Given the description of an element on the screen output the (x, y) to click on. 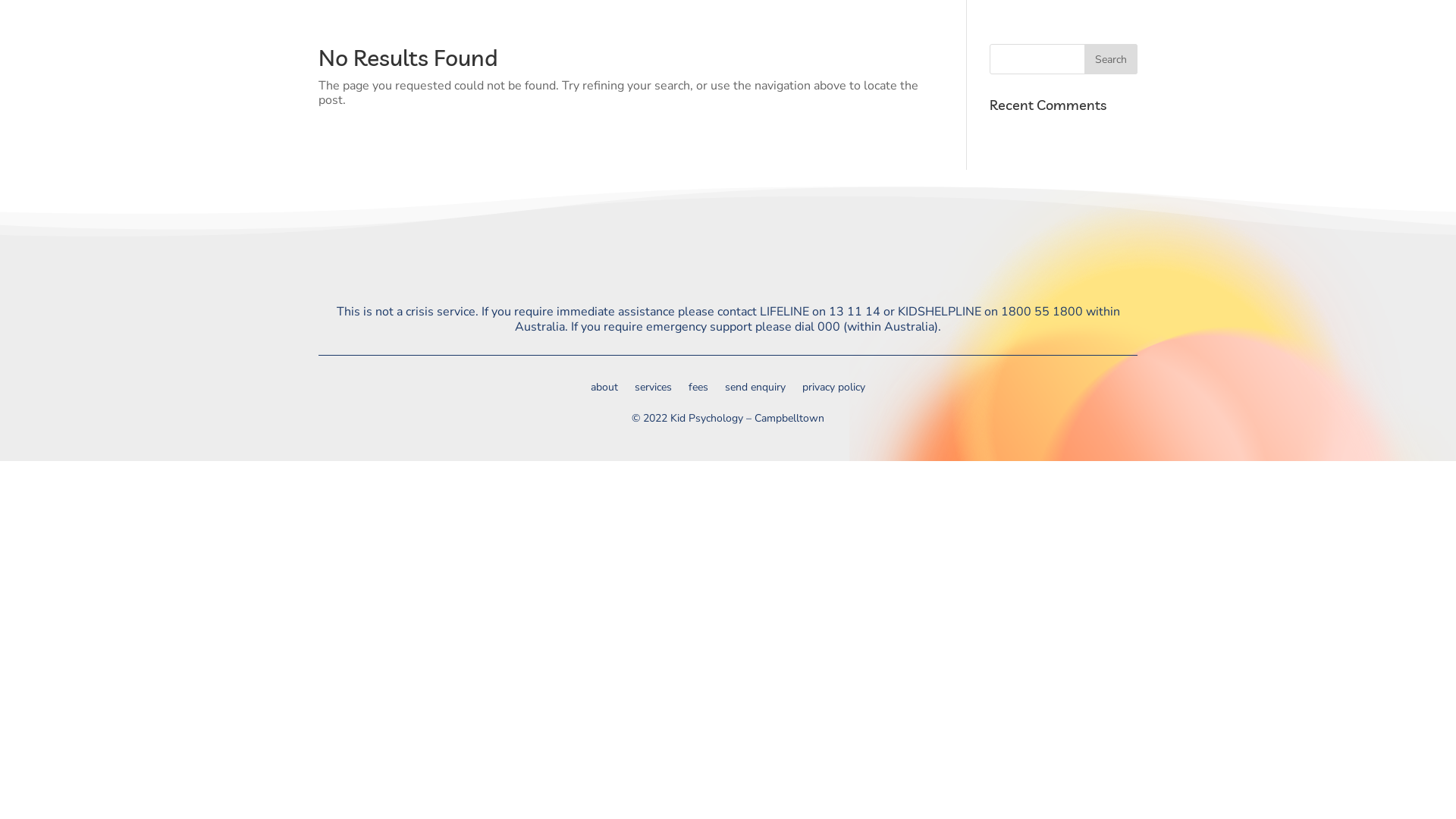
send enquiry Element type: text (754, 390)
fees Element type: text (698, 390)
Search Element type: text (1110, 58)
about Element type: text (604, 390)
privacy policy Element type: text (833, 390)
services Element type: text (652, 390)
about Element type: text (1151, 37)
send enquiry Element type: text (1369, 37)
fees Element type: text (1286, 37)
services Element type: text (1222, 37)
